Given the description of an element on the screen output the (x, y) to click on. 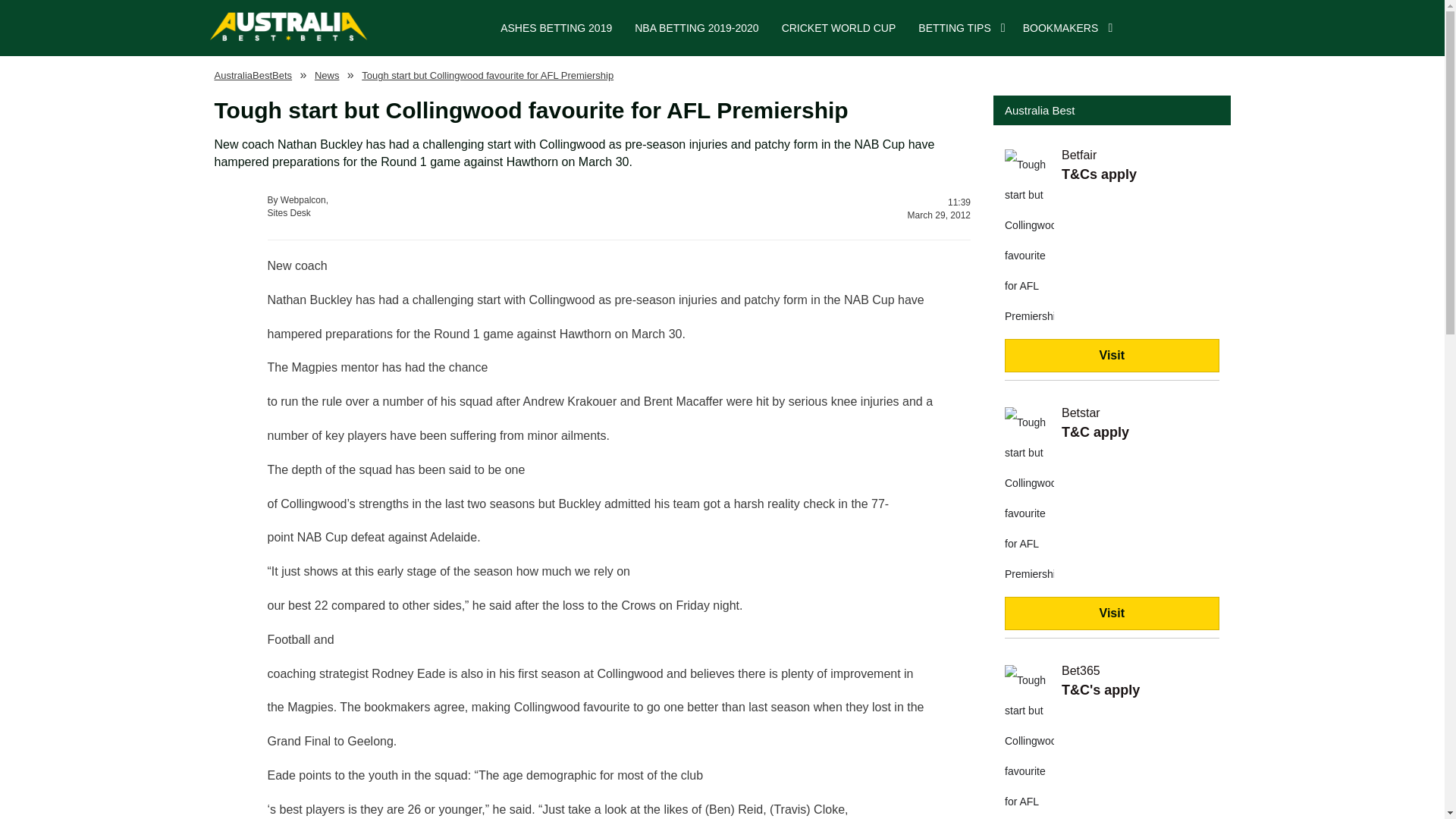
BOOKMAKERS (1060, 28)
ASHES BETTING 2019 (556, 28)
BETTING TIPS (954, 28)
CRICKET WORLD CUP (838, 28)
NBA BETTING 2019-2020 (696, 28)
News (326, 74)
AustraliaBestBets (436, 207)
webpalcon (253, 74)
